Given the description of an element on the screen output the (x, y) to click on. 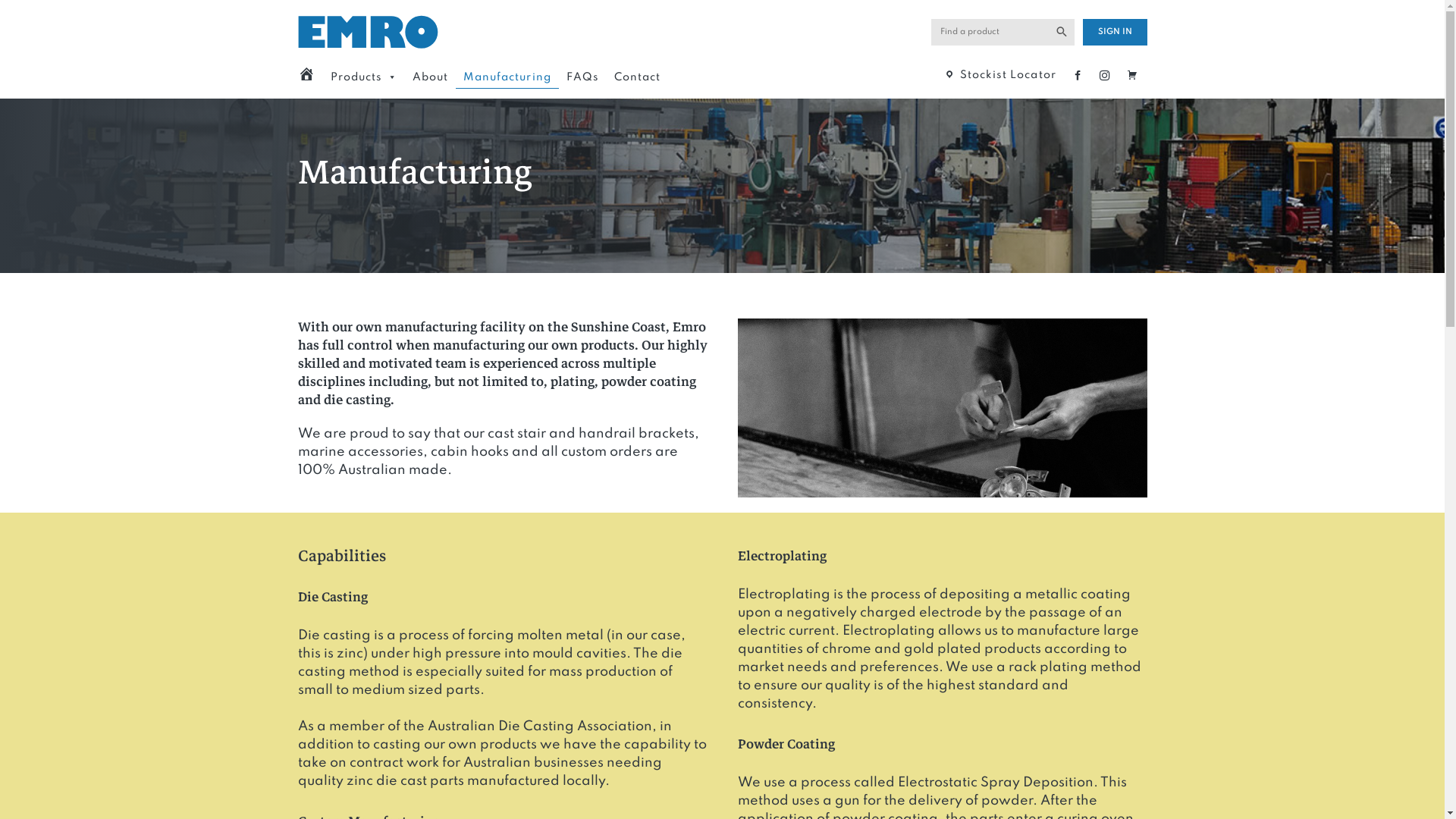
Stockist Locator Element type: text (1000, 74)
Products Element type: text (363, 76)
About Element type: text (429, 76)
SIGN IN Element type: text (1114, 31)
Contact Element type: text (637, 76)
Manufacturing Element type: text (506, 76)
FAQs Element type: text (582, 76)
